Given the description of an element on the screen output the (x, y) to click on. 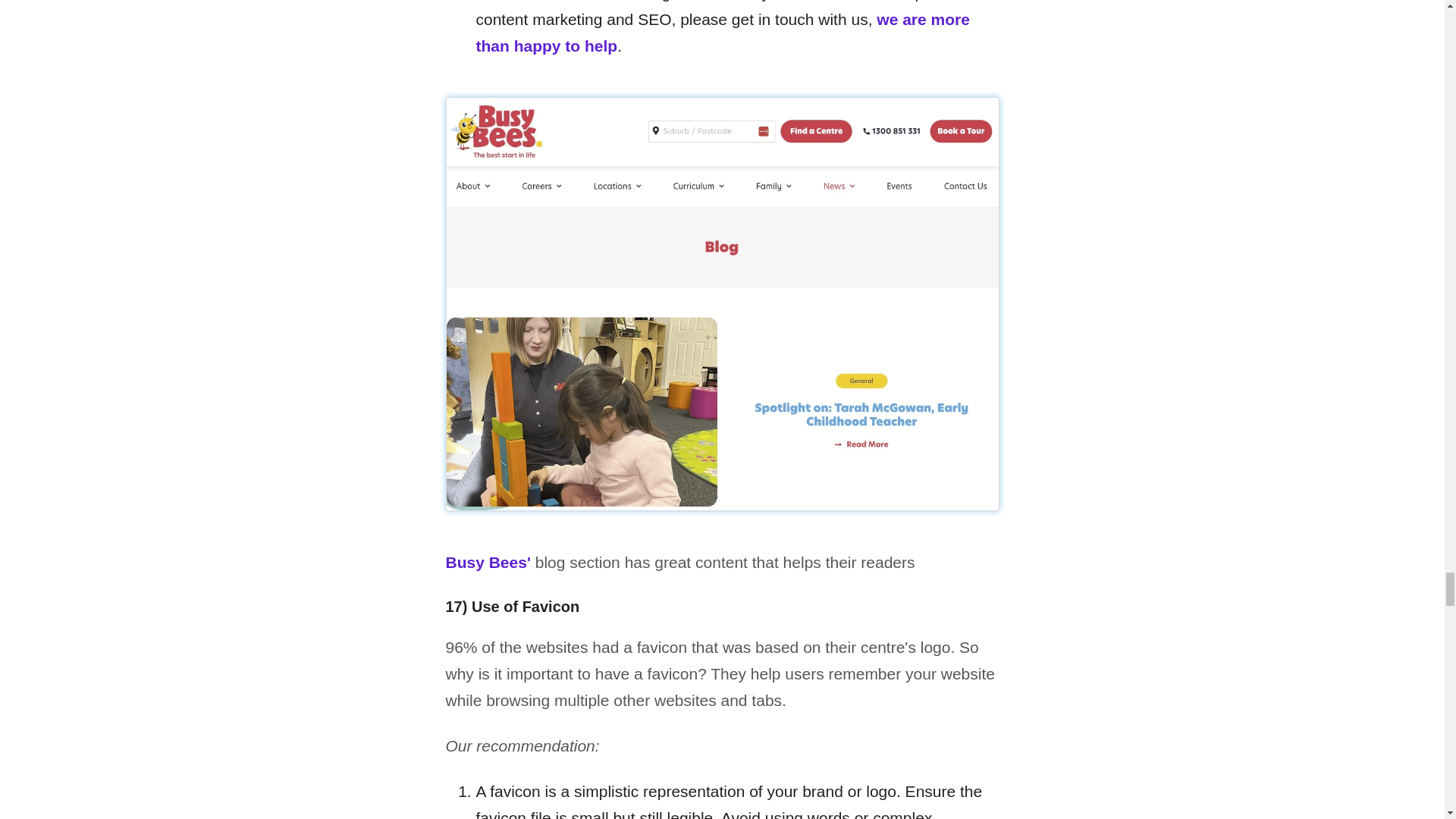
we are more than happy to help (722, 32)
Busy Bees' (488, 561)
